Given the description of an element on the screen output the (x, y) to click on. 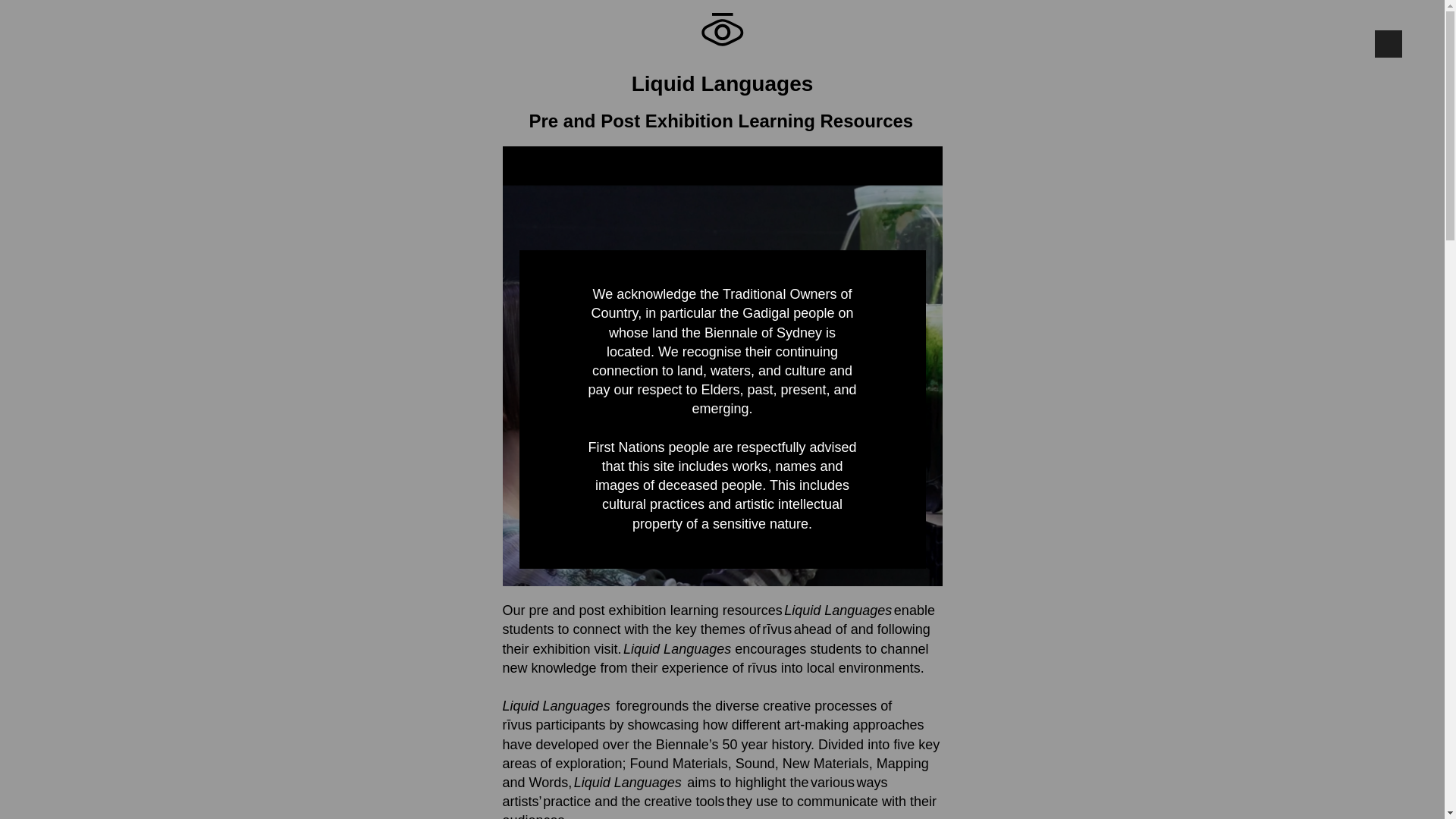
Open Menu (25, 31)
Open Search (1416, 31)
